Given the description of an element on the screen output the (x, y) to click on. 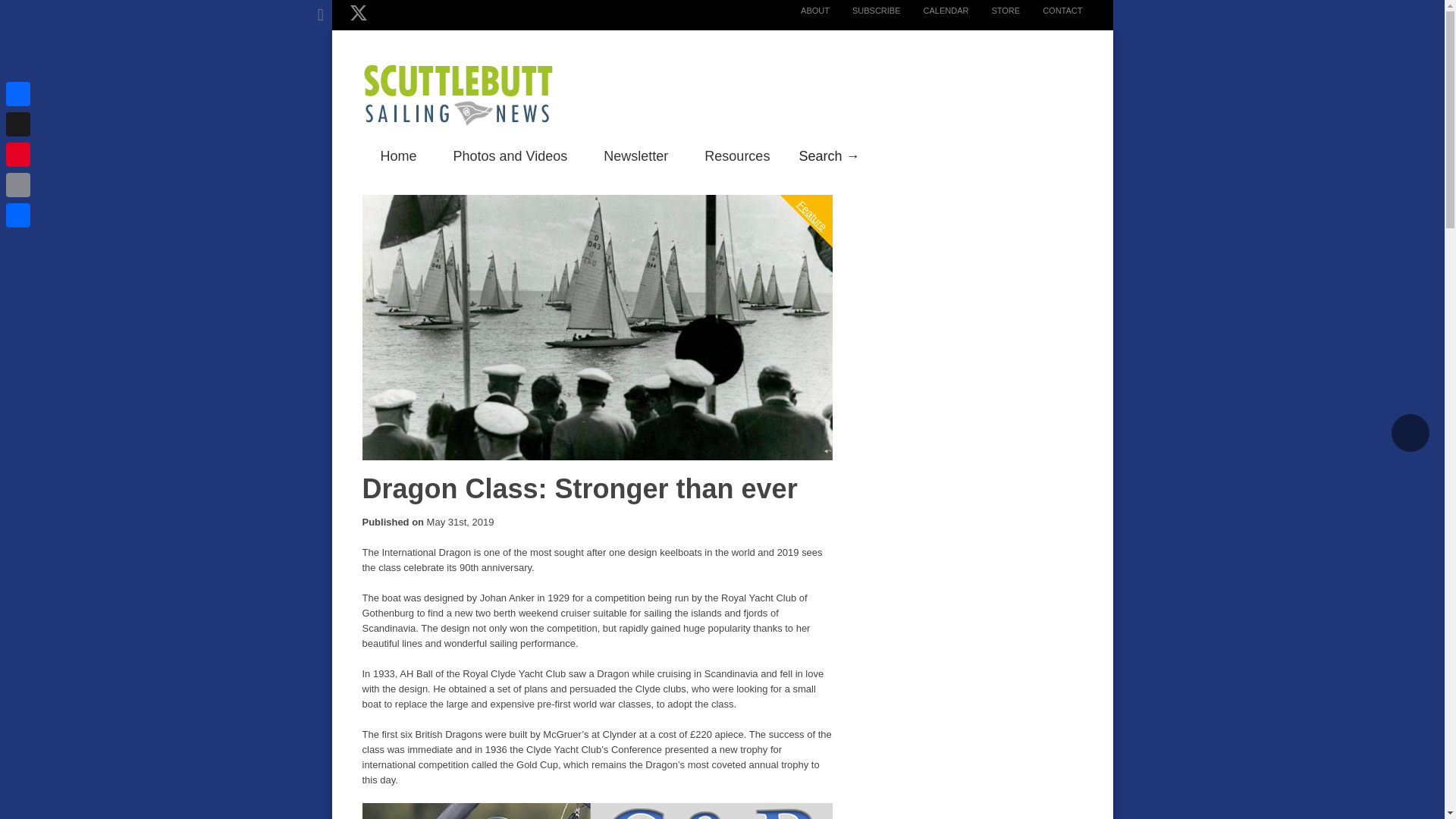
Newsletter (635, 156)
Feature (828, 153)
STORE (994, 10)
CALENDAR (935, 10)
SUBSCRIBE (865, 10)
Home (398, 156)
CONTACT (1050, 10)
ABOUT (803, 10)
Photos and Videos (510, 156)
Resources (736, 156)
